Given the description of an element on the screen output the (x, y) to click on. 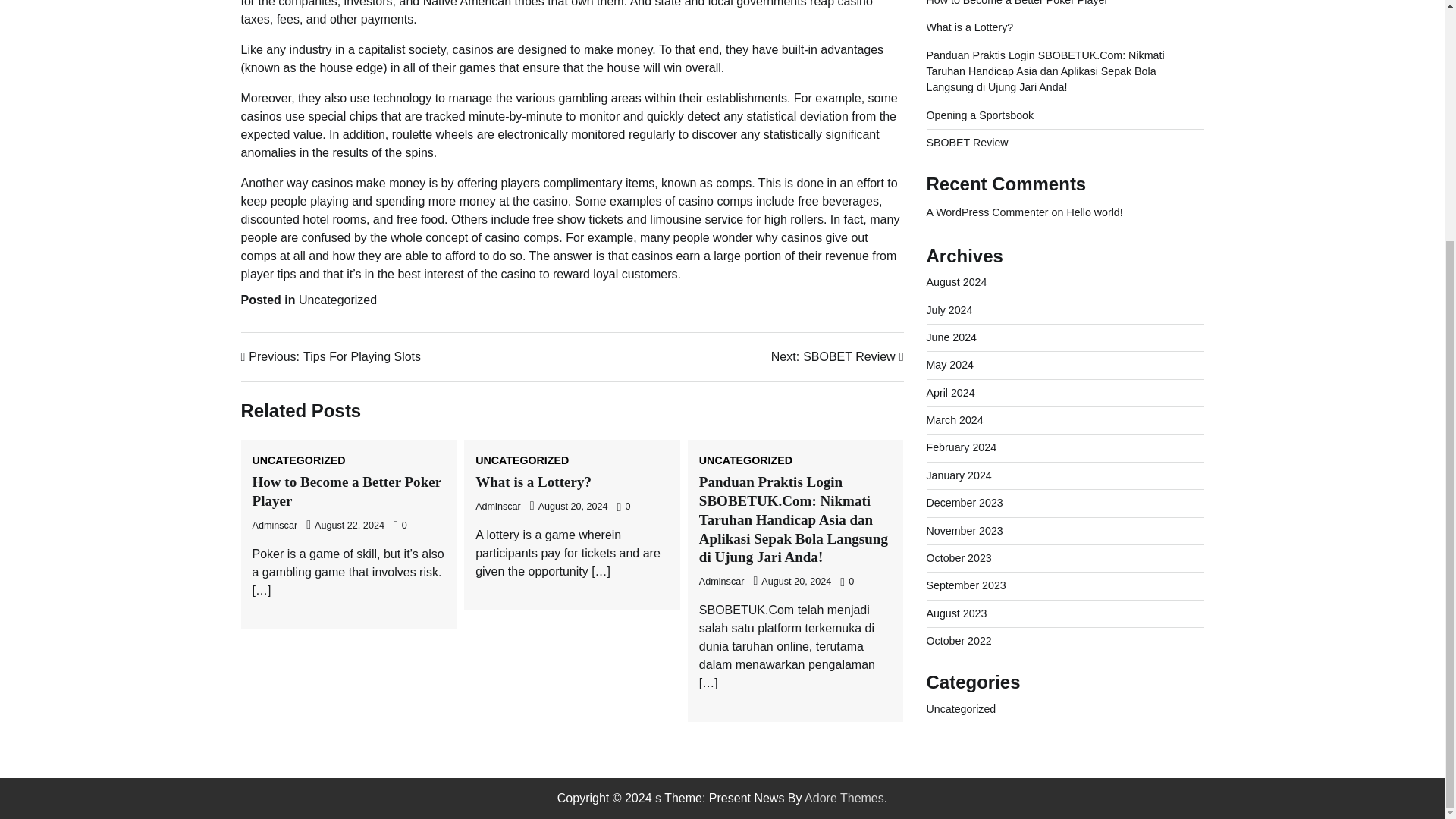
What is a Lottery? (969, 2)
November 2023 (964, 500)
June 2024 (951, 307)
UNCATEGORIZED (745, 460)
December 2023 (964, 472)
September 2023 (966, 555)
Adminscar (274, 525)
Opening a Sportsbook (979, 85)
Adminscar (721, 581)
